Given the description of an element on the screen output the (x, y) to click on. 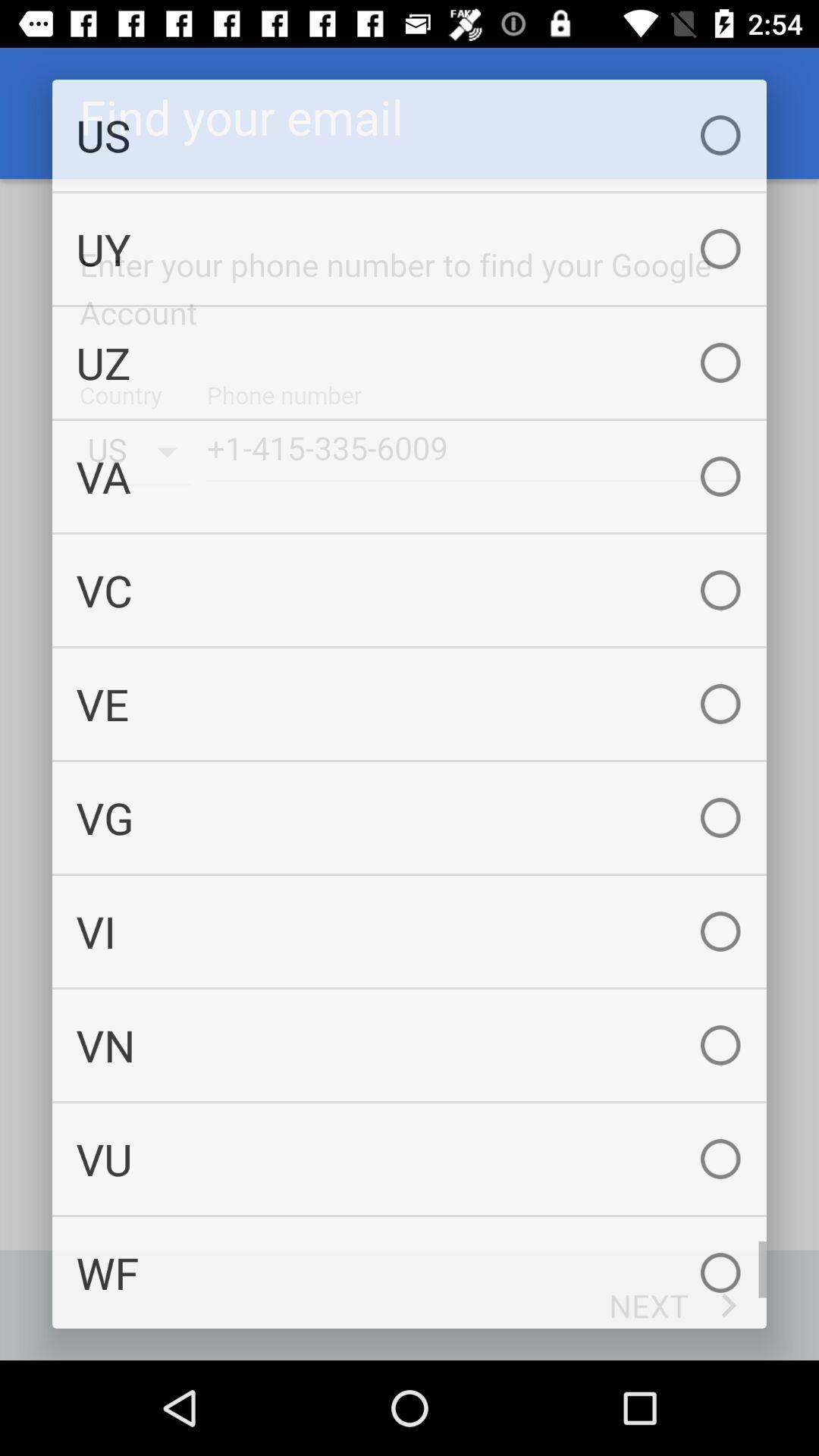
swipe until wf icon (409, 1272)
